Given the description of an element on the screen output the (x, y) to click on. 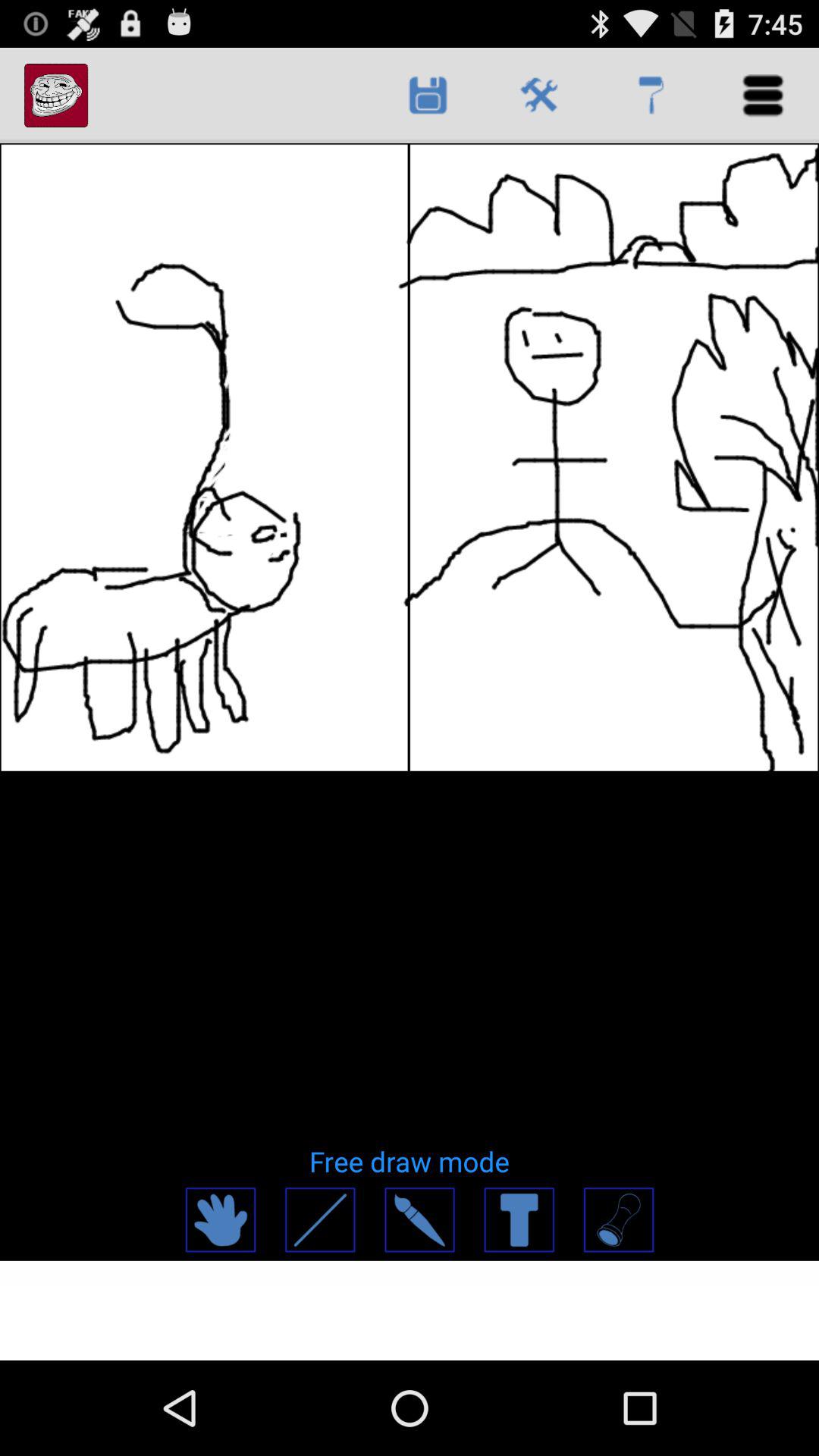
move image (219, 1219)
